Given the description of an element on the screen output the (x, y) to click on. 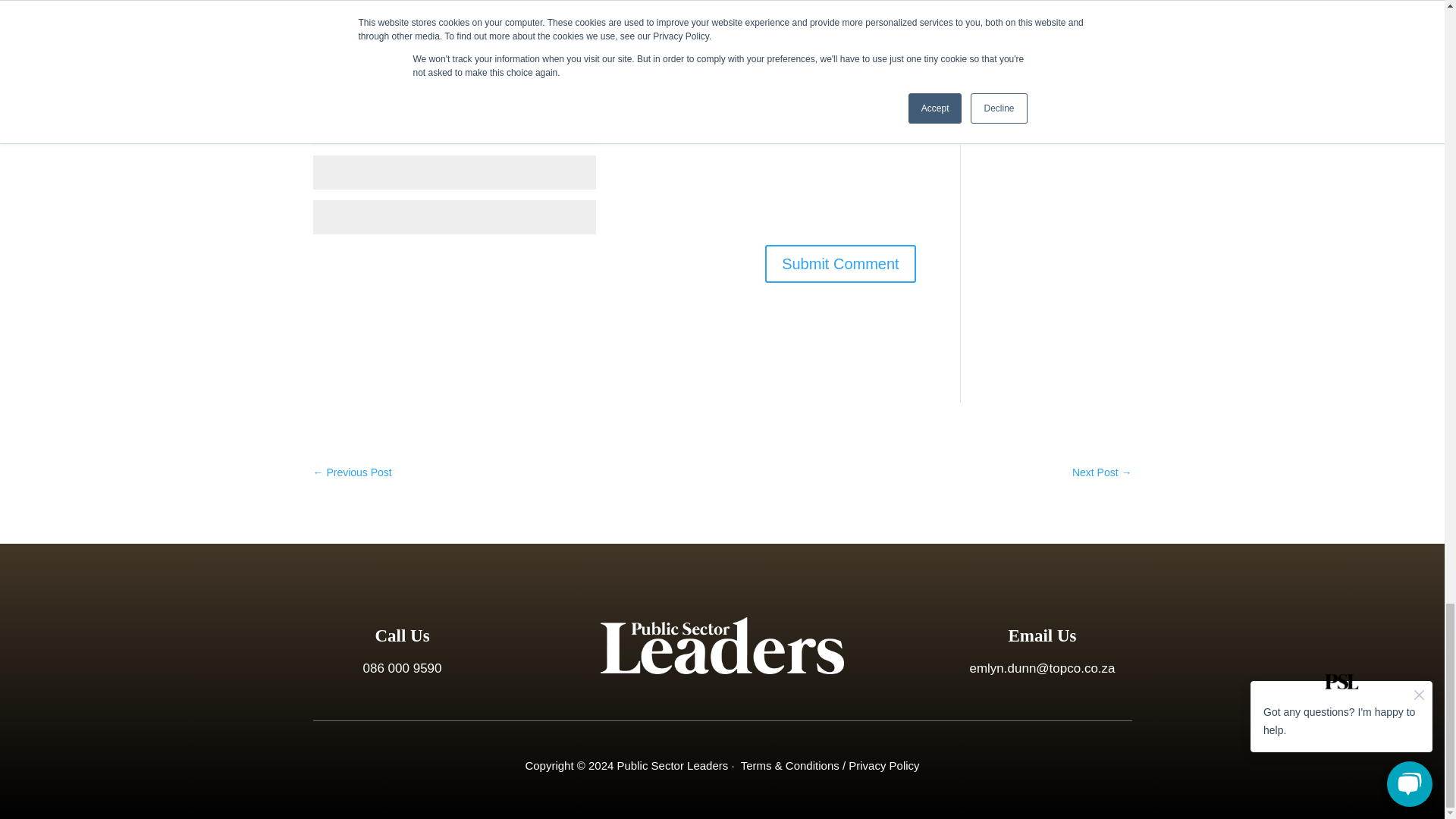
Submit Comment (840, 263)
Submit Comment (840, 263)
